Given the description of an element on the screen output the (x, y) to click on. 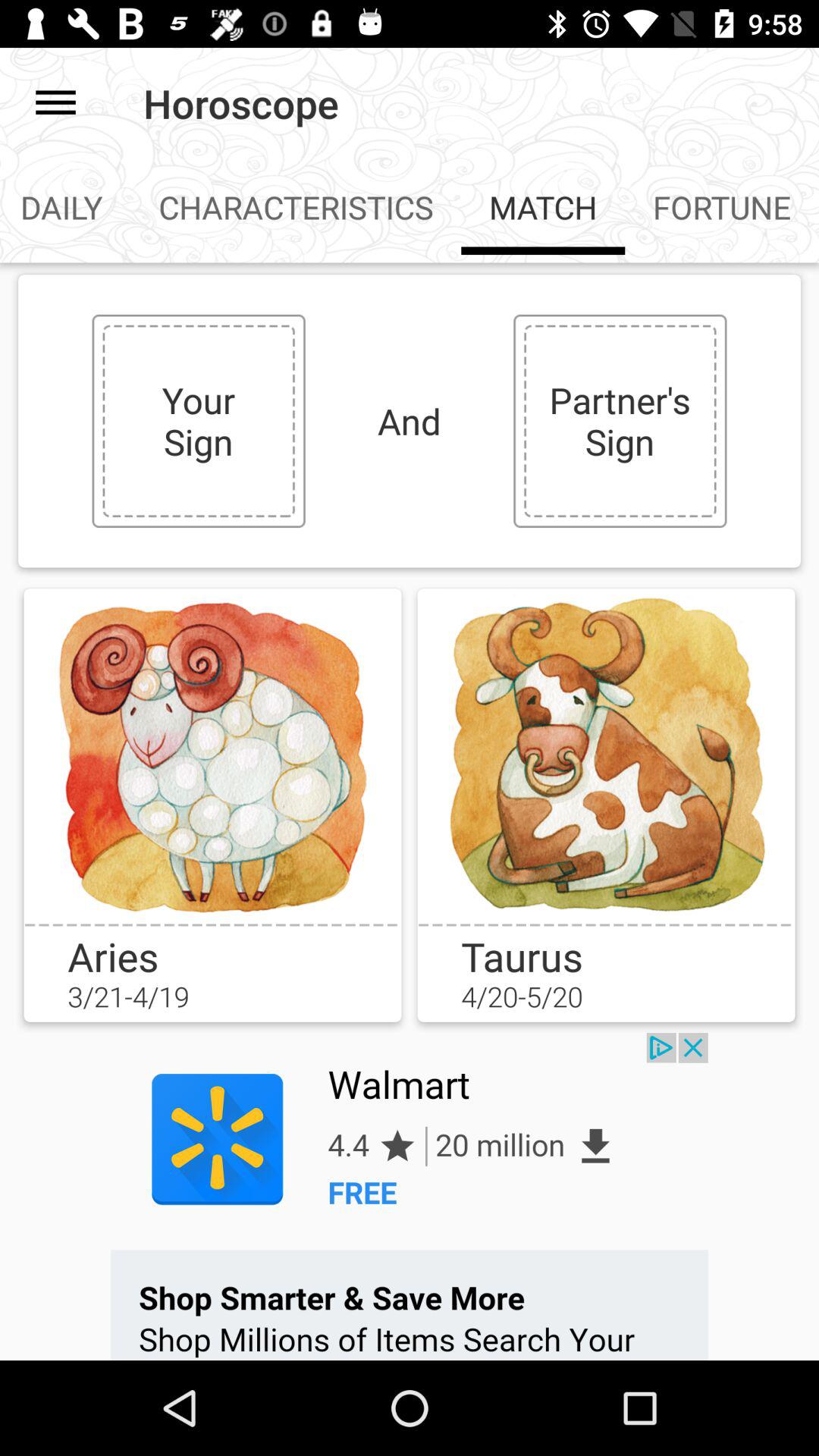
choose your option (606, 755)
